Given the description of an element on the screen output the (x, y) to click on. 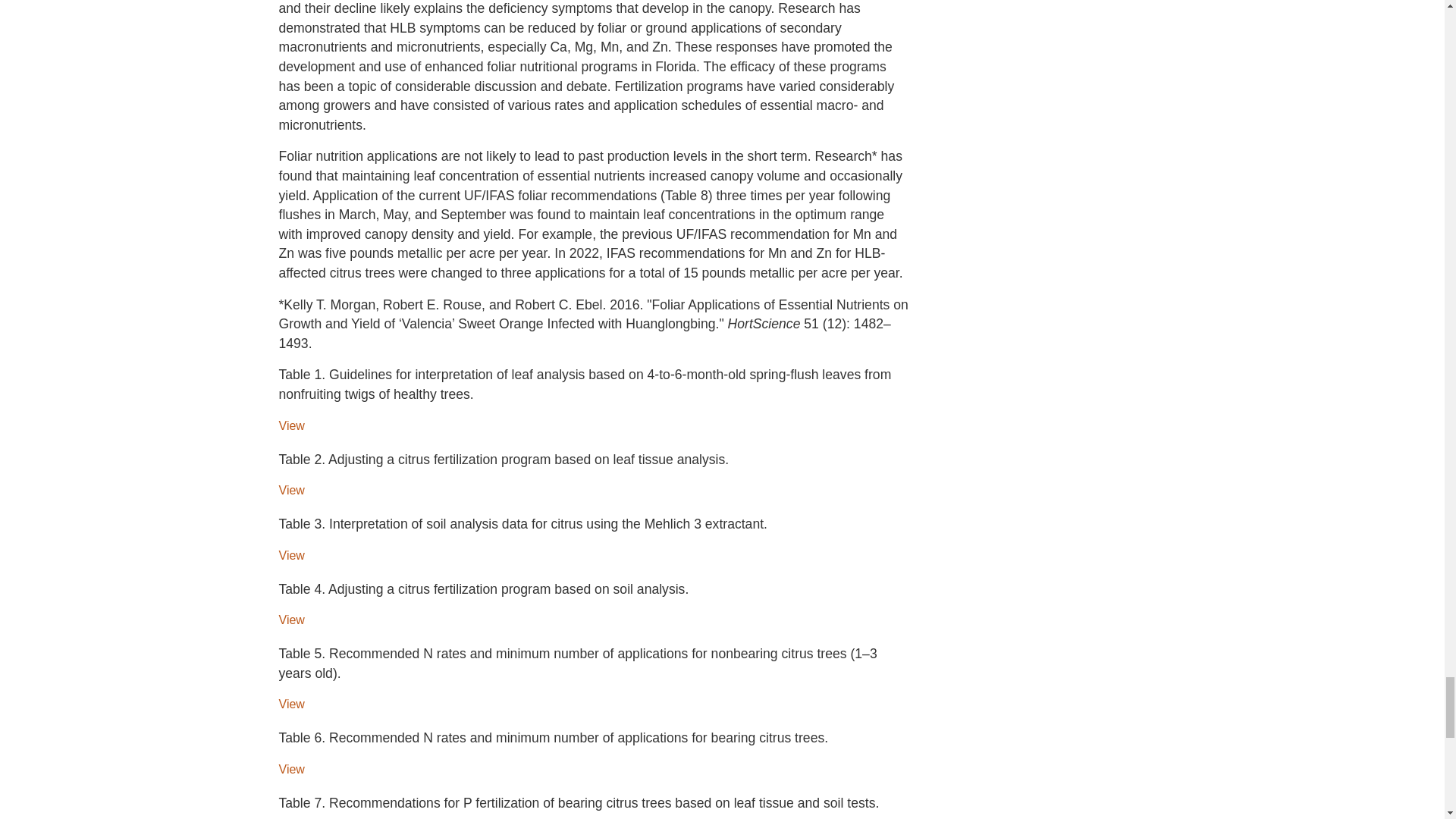
View (291, 619)
View (291, 703)
View (291, 425)
View (291, 554)
View (291, 490)
View (291, 768)
